Given the description of an element on the screen output the (x, y) to click on. 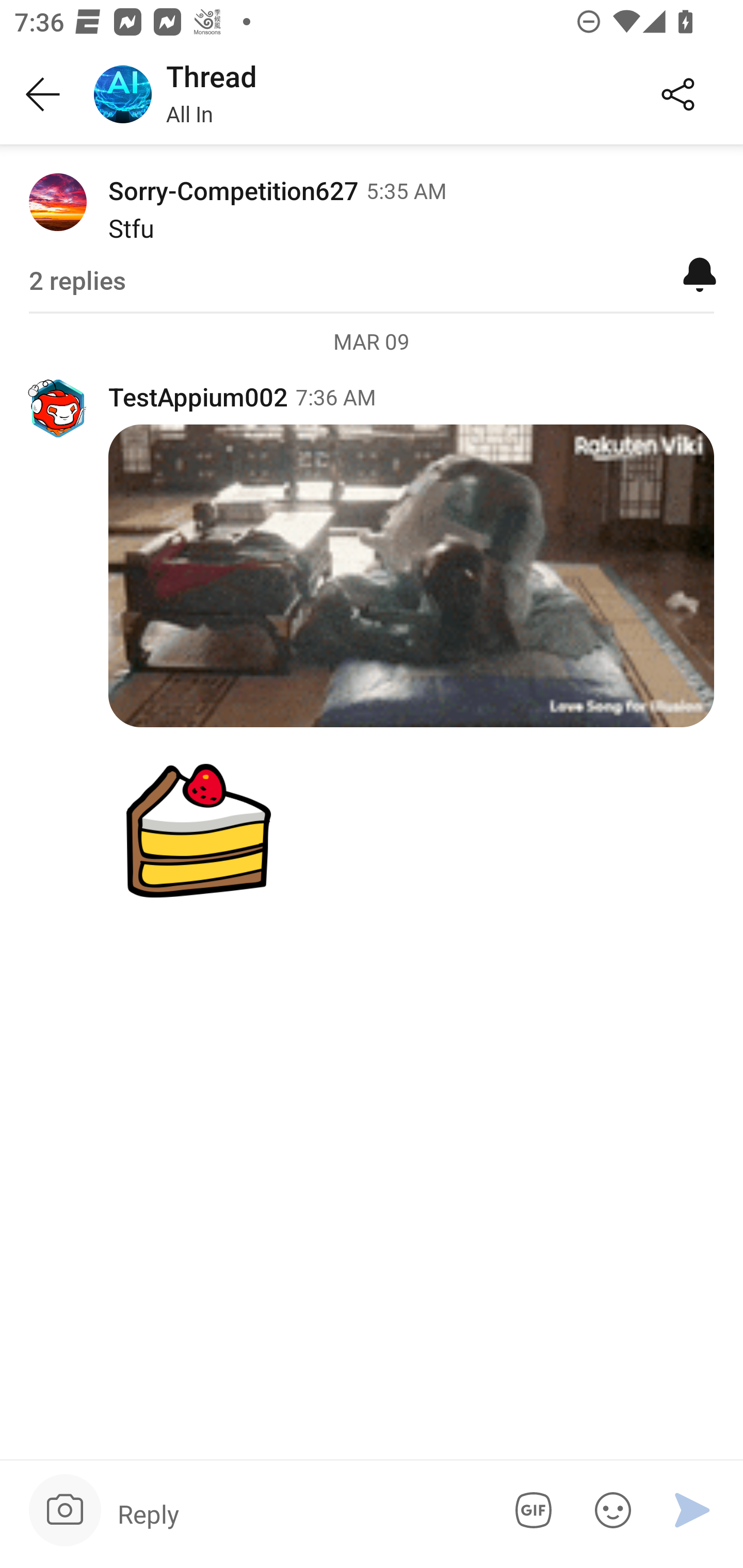
Back (43, 94)
Share (677, 94)
Mute (699, 273)
An image message (411, 575)
An image message (371, 830)
Upload image (64, 1510)
Add GIF (529, 1510)
Add sticker (609, 1510)
Send message (692, 1510)
Message Reply (298, 1513)
